Given the description of an element on the screen output the (x, y) to click on. 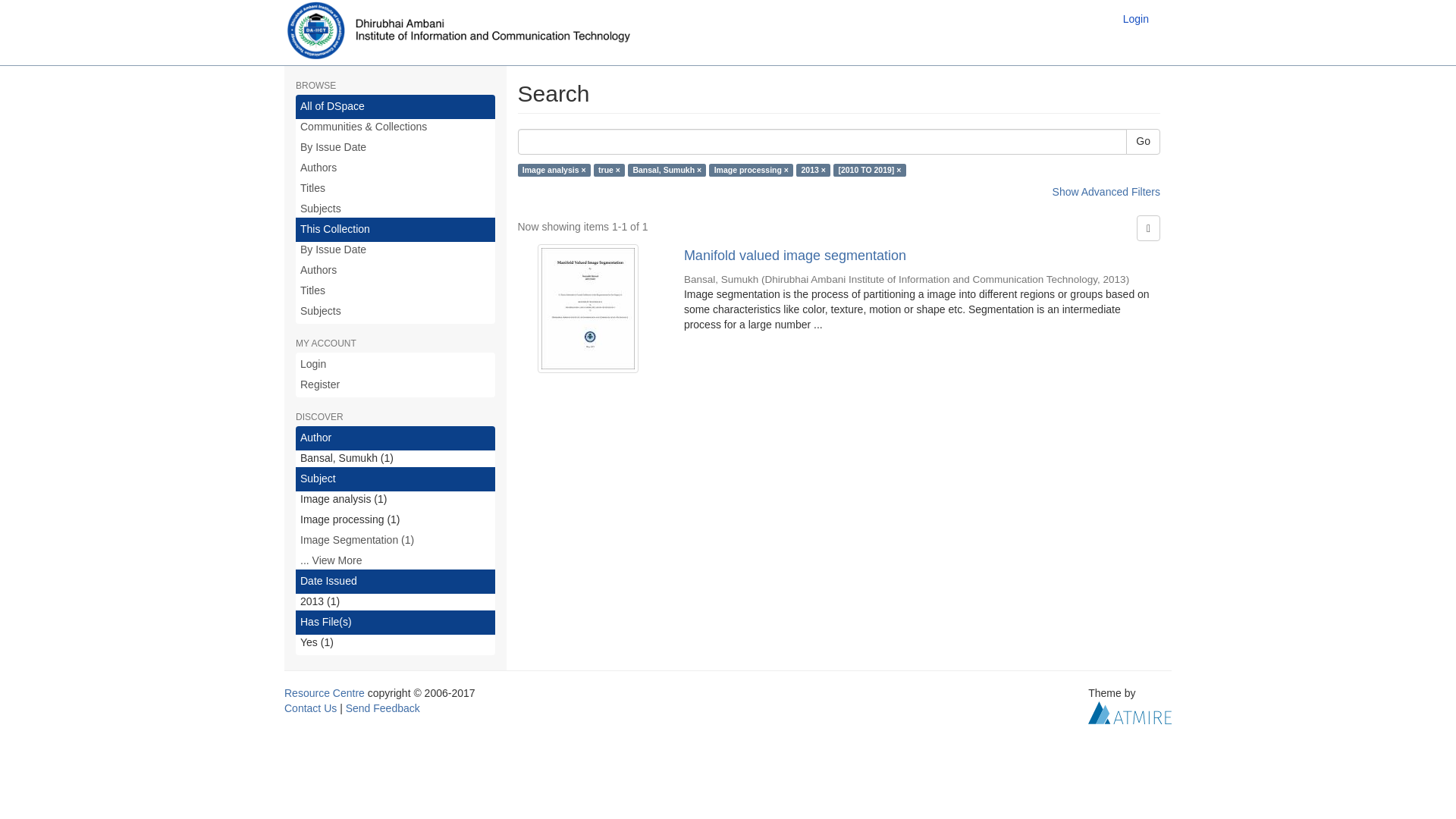
Subject (395, 478)
Subjects (395, 209)
This Collection (395, 229)
By Issue Date (395, 147)
Login (395, 364)
Atmire NV (1129, 711)
Subjects (395, 311)
Login (1136, 18)
Go (1142, 141)
Author (395, 437)
Date Issued (395, 581)
Register (395, 385)
Authors (395, 168)
Titles (395, 291)
By Issue Date (395, 250)
